Given the description of an element on the screen output the (x, y) to click on. 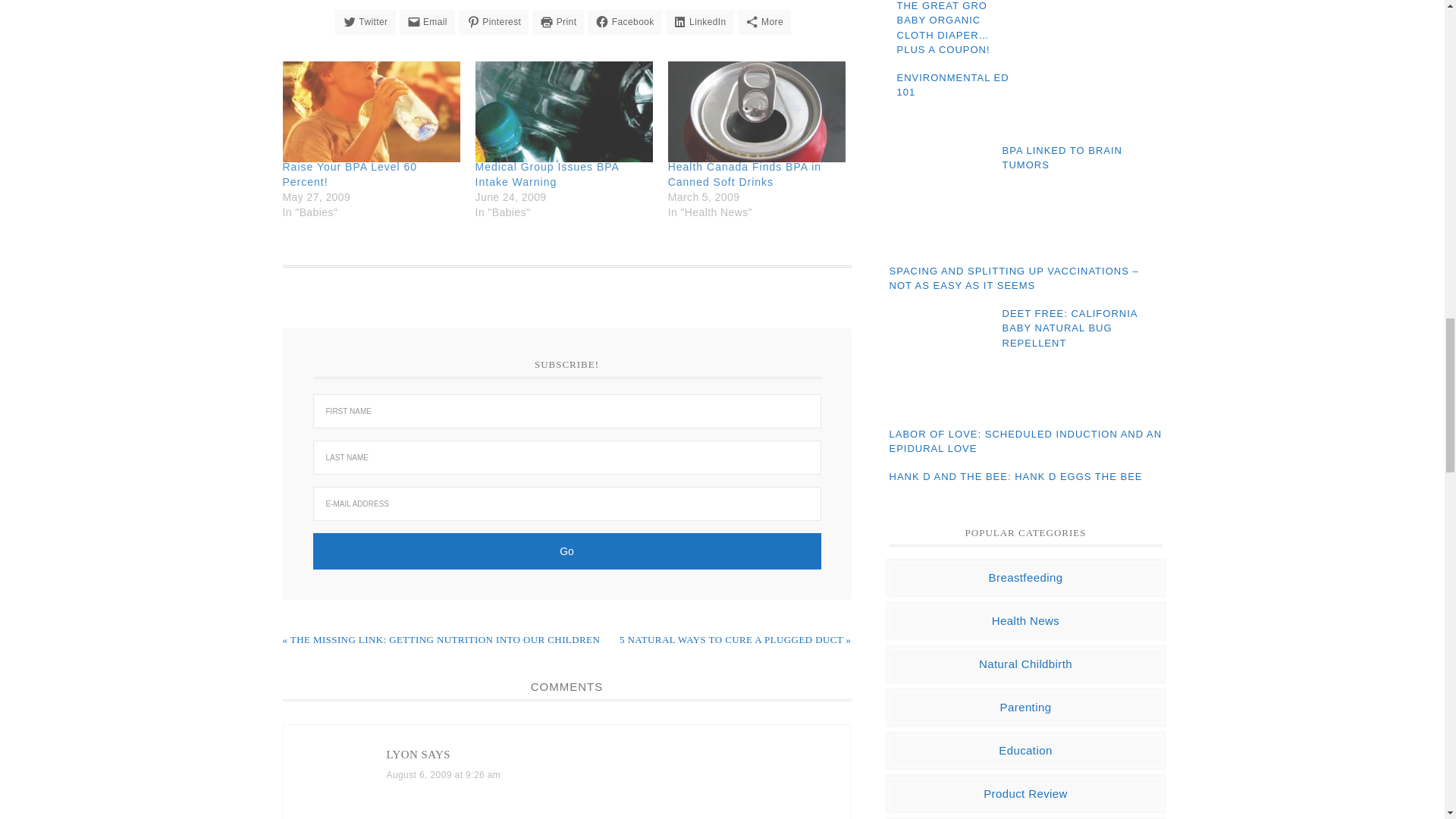
Health Canada Finds BPA in Canned Soft Drinks (756, 111)
Pinterest (493, 21)
Click to email this to a friend (426, 21)
Click to share on Facebook (624, 21)
Print (557, 21)
Facebook (624, 21)
Click to share on Pinterest (493, 21)
Medical Group Issues BPA Intake Warning (564, 111)
Email (426, 21)
Click to share on LinkedIn (699, 21)
Go (567, 551)
Medical Group Issues BPA Intake Warning (547, 174)
Raise Your BPA Level 60 Percent! (349, 174)
Health Canada Finds BPA in Canned Soft Drinks (744, 174)
Twitter (365, 21)
